Given the description of an element on the screen output the (x, y) to click on. 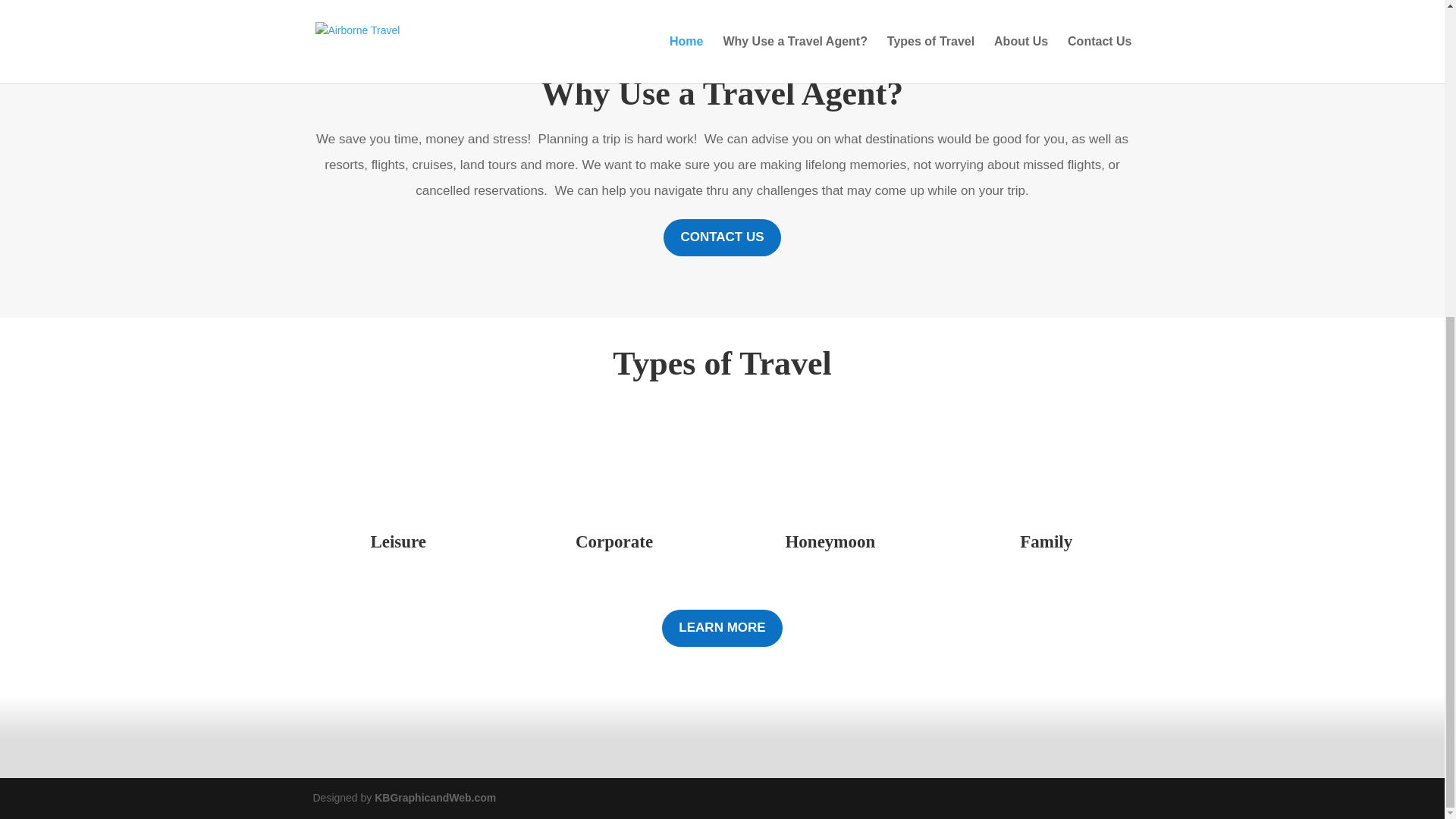
KBGraphicandWeb.com (435, 797)
LEARN MORE (721, 628)
CONTACT US (721, 237)
